Given the description of an element on the screen output the (x, y) to click on. 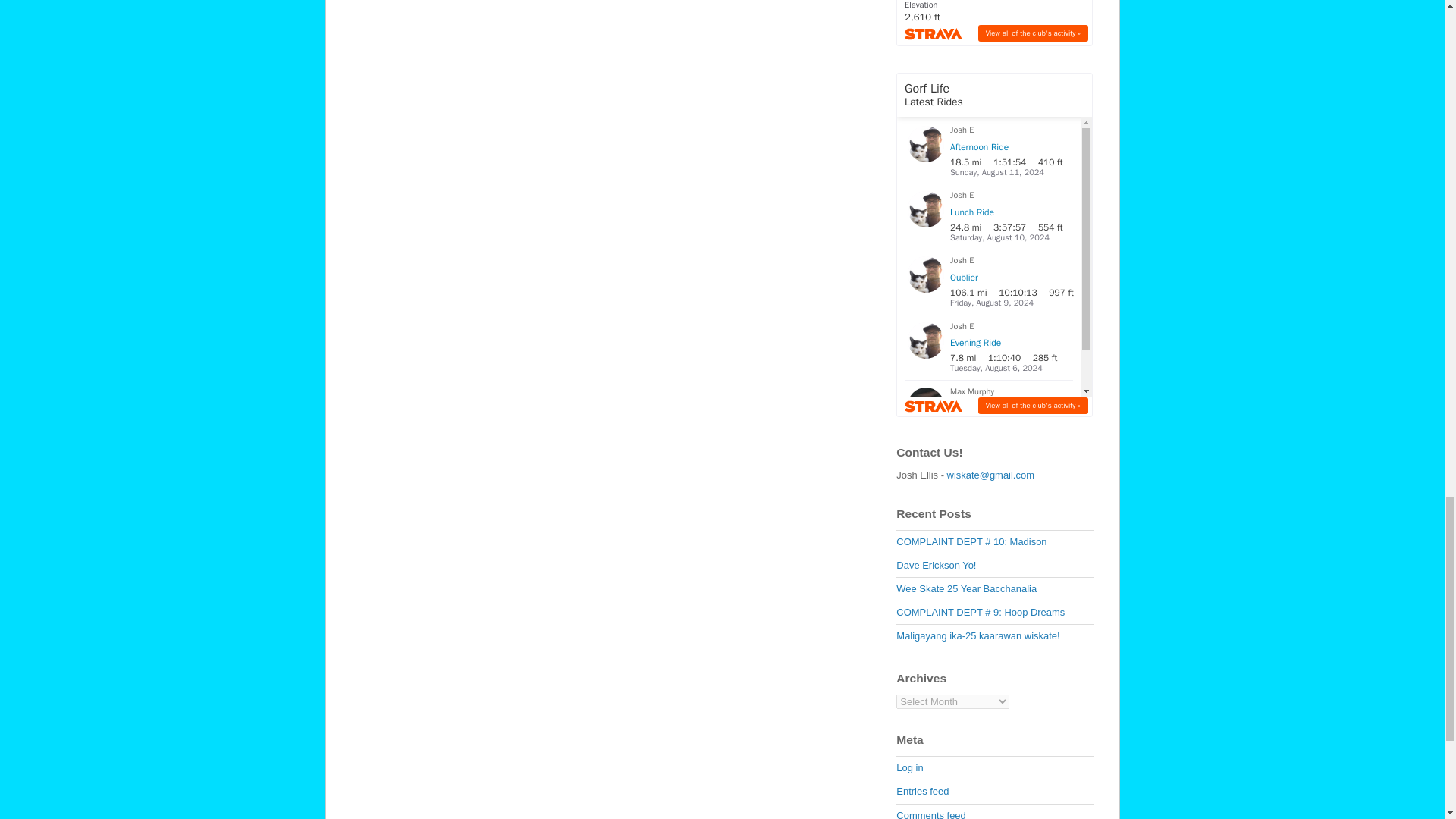
Wee Skate 25 Year Bacchanalia (966, 588)
Dave Erickson Yo! (935, 564)
Log in (909, 767)
Comments feed (930, 814)
Entries feed (922, 790)
Maligayang ika-25 kaarawan wiskate! (977, 635)
